Given the description of an element on the screen output the (x, y) to click on. 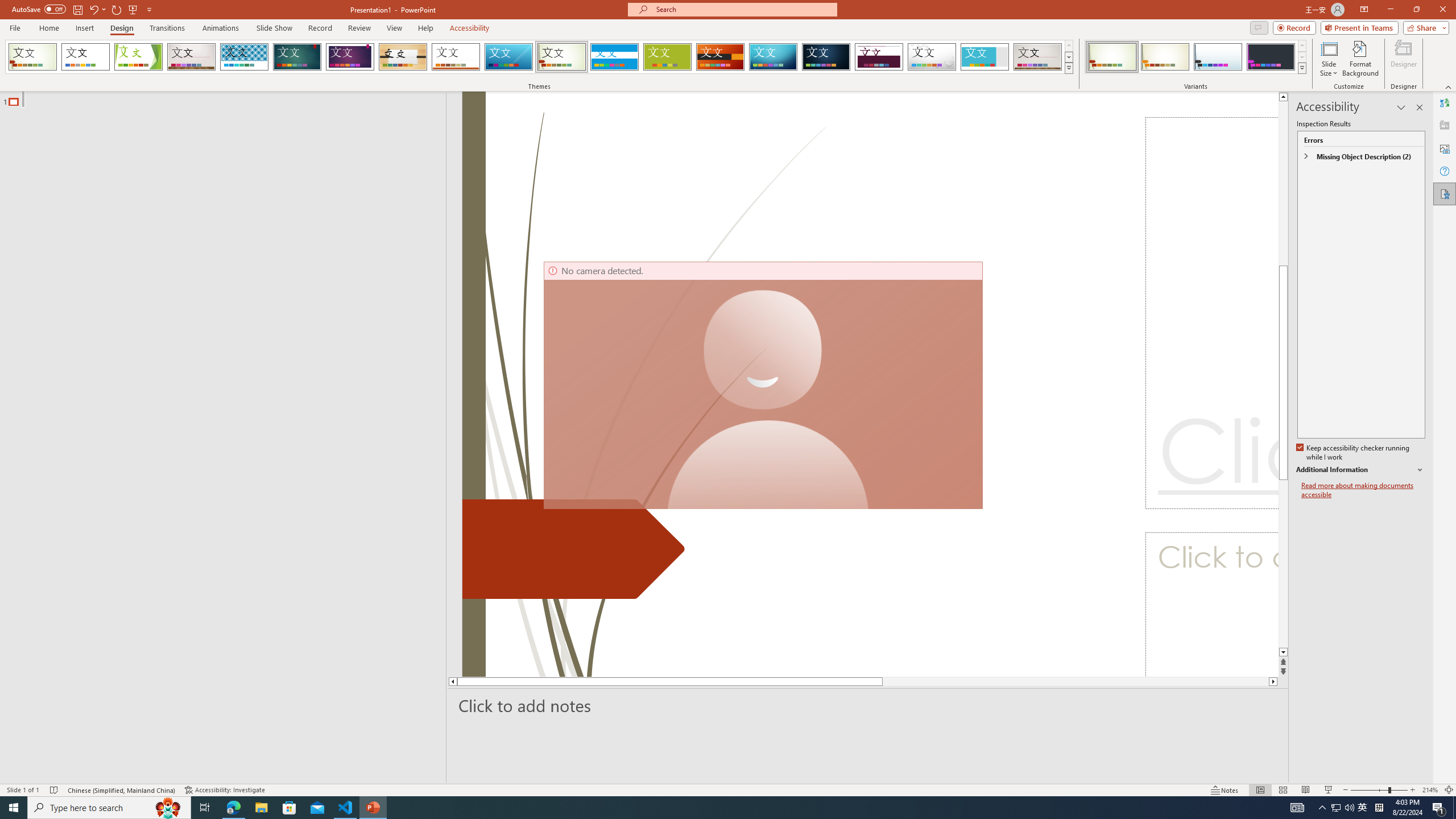
Organic (403, 56)
AutomationID: SlideThemesGallery (539, 56)
Ion (296, 56)
Facet (138, 56)
Rectangle (216, 437)
Wisp Variant 4 (1270, 56)
Slide Size (1328, 58)
Slide Notes (868, 705)
